Given the description of an element on the screen output the (x, y) to click on. 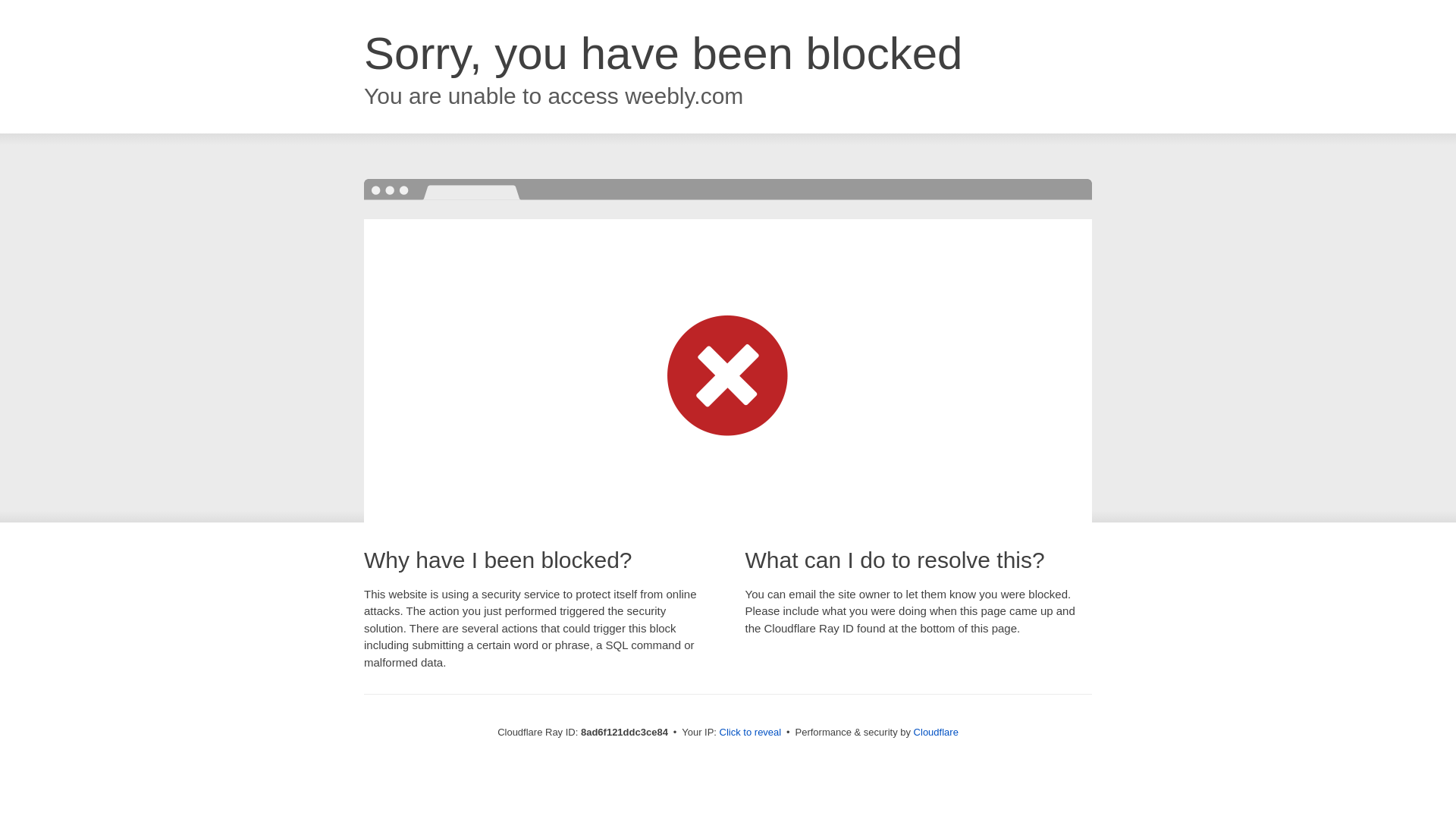
Click to reveal (750, 732)
Cloudflare (936, 731)
